Given the description of an element on the screen output the (x, y) to click on. 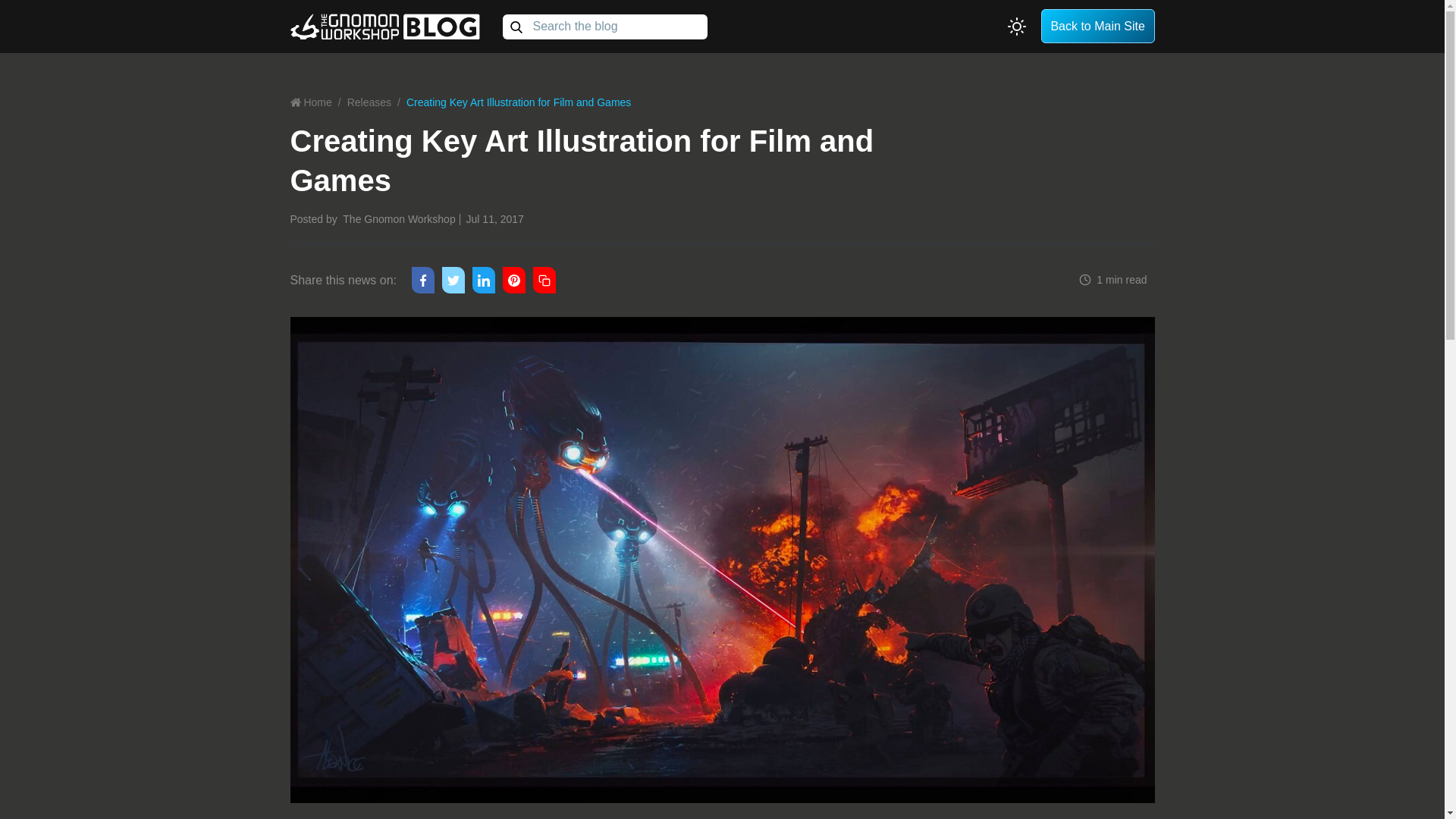
Home (315, 102)
Releases (369, 102)
Back to Main Site (1097, 26)
The Gnomon Workshop (398, 218)
